Given the description of an element on the screen output the (x, y) to click on. 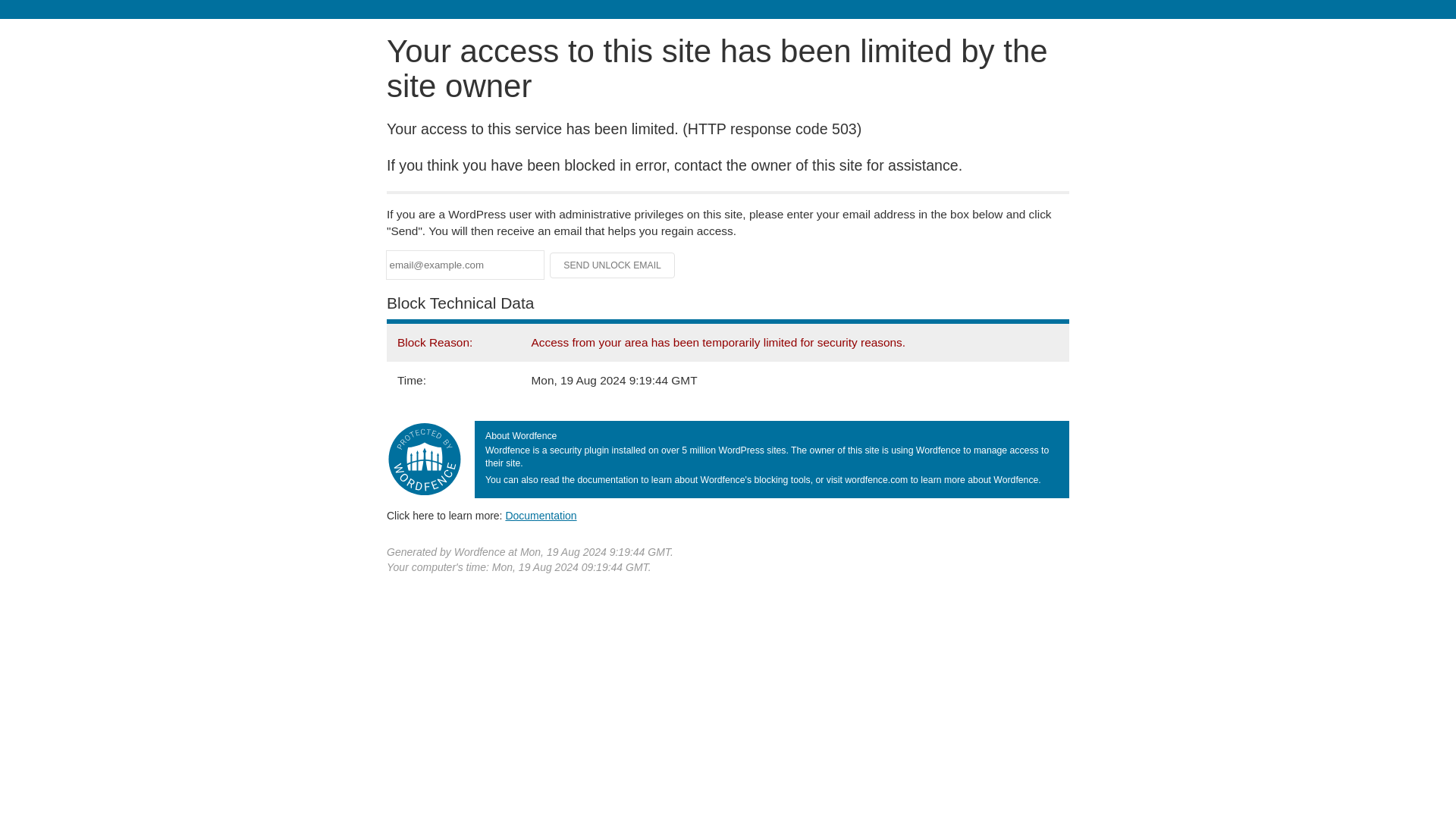
Send Unlock Email (612, 265)
Documentation (540, 515)
Send Unlock Email (612, 265)
